Given the description of an element on the screen output the (x, y) to click on. 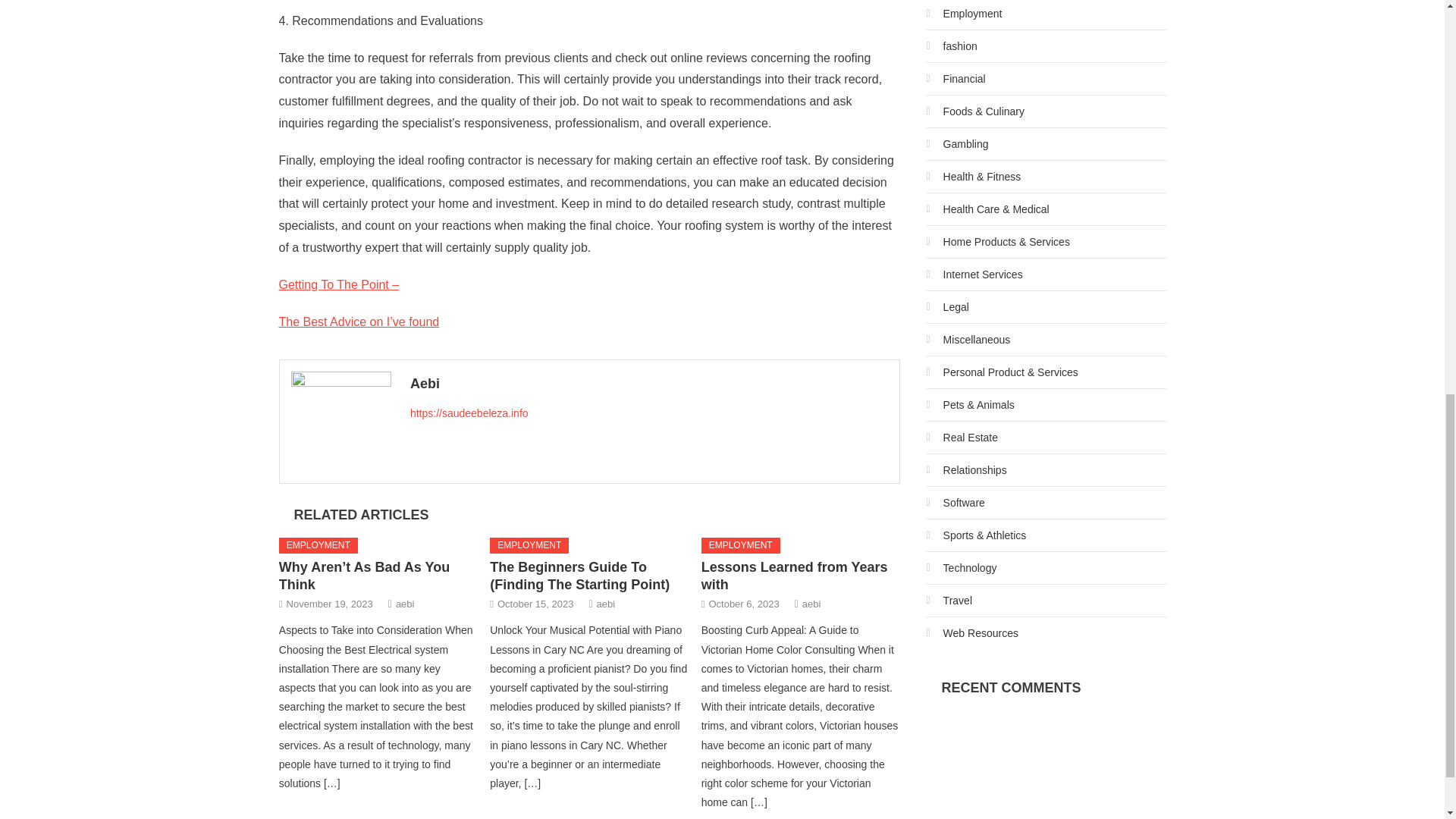
Lessons Learned from Years with (794, 575)
EMPLOYMENT (529, 545)
October 15, 2023 (535, 603)
October 6, 2023 (742, 603)
aebi (811, 603)
EMPLOYMENT (740, 545)
November 19, 2023 (329, 603)
aebi (605, 603)
Aebi (649, 383)
EMPLOYMENT (318, 545)
aebi (405, 603)
